Given the description of an element on the screen output the (x, y) to click on. 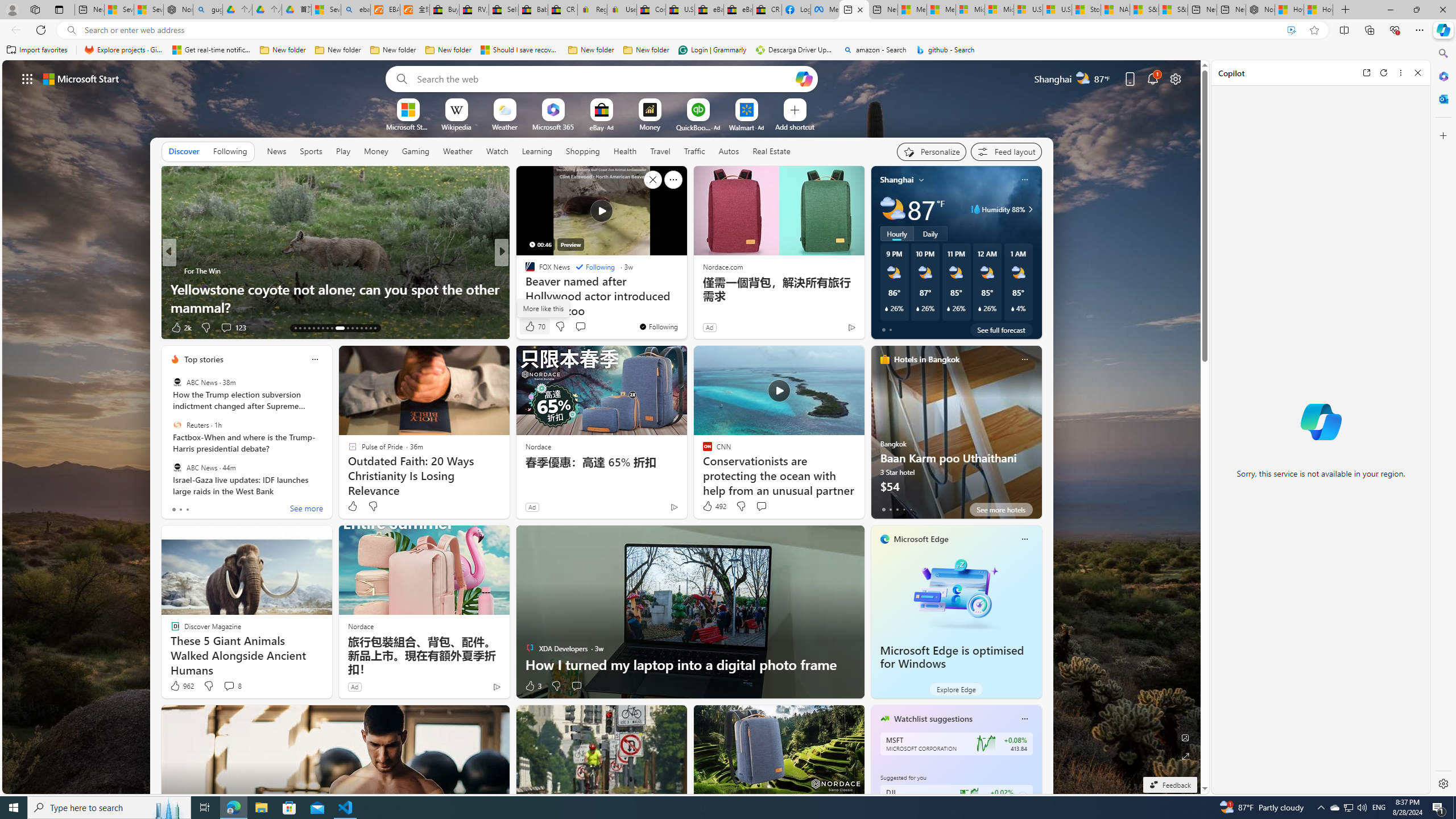
Microsoft Edge is optimised for Windows (952, 657)
Like (352, 505)
Real Estate (771, 151)
Search icon (70, 29)
AutomationID: tab-23 (345, 328)
eBay Inc. Reports Third Quarter 2023 Results (738, 9)
